Given the description of an element on the screen output the (x, y) to click on. 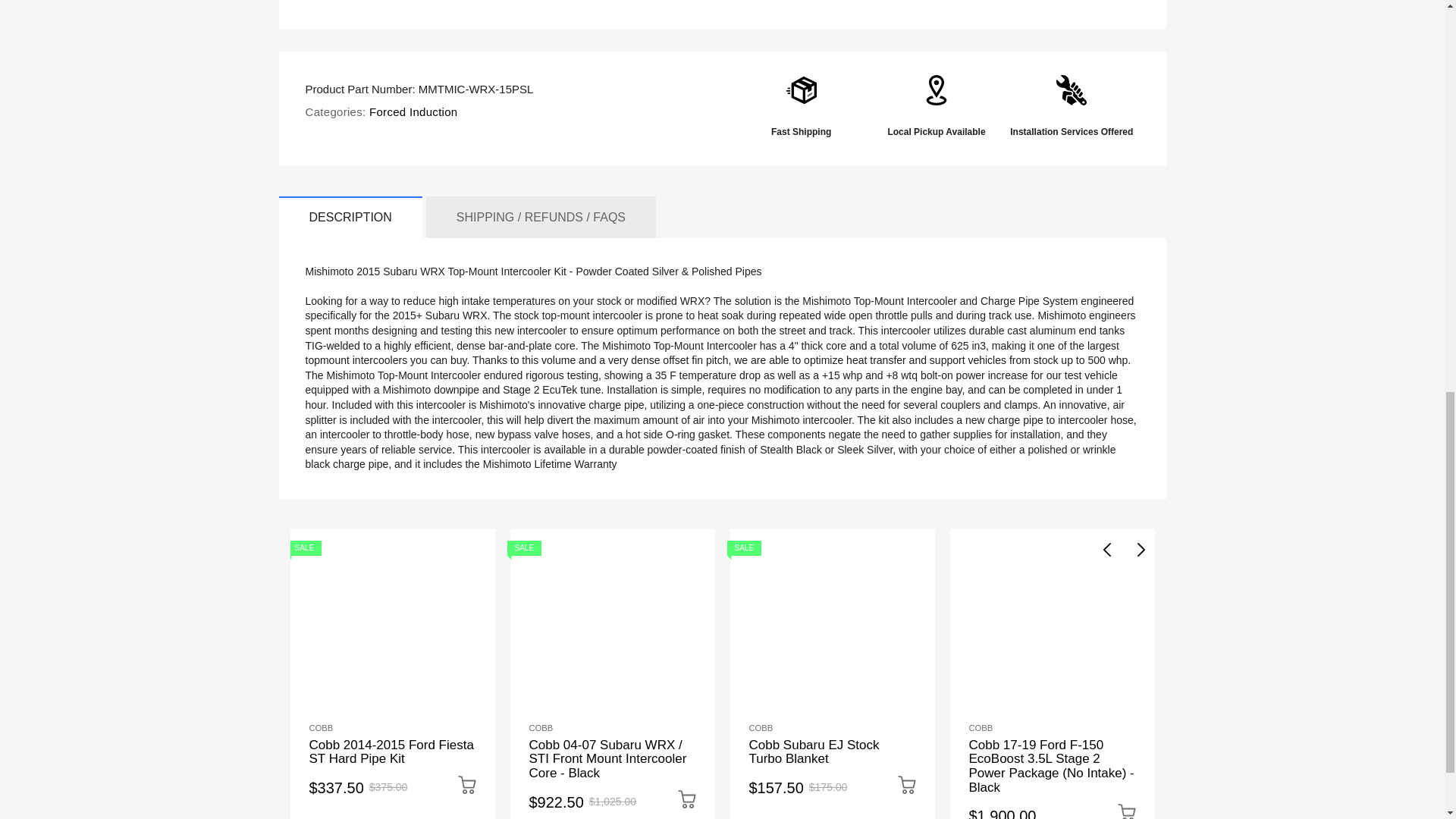
Cobb 2014-2015 Ford Fiesta ST Hard Pipe Kit (391, 751)
Forced Induction (412, 111)
COBB (980, 727)
COBB (541, 727)
COBB (320, 727)
Cobb Subaru EJ Stock Turbo Blanket (814, 751)
COBB (761, 727)
